Given the description of an element on the screen output the (x, y) to click on. 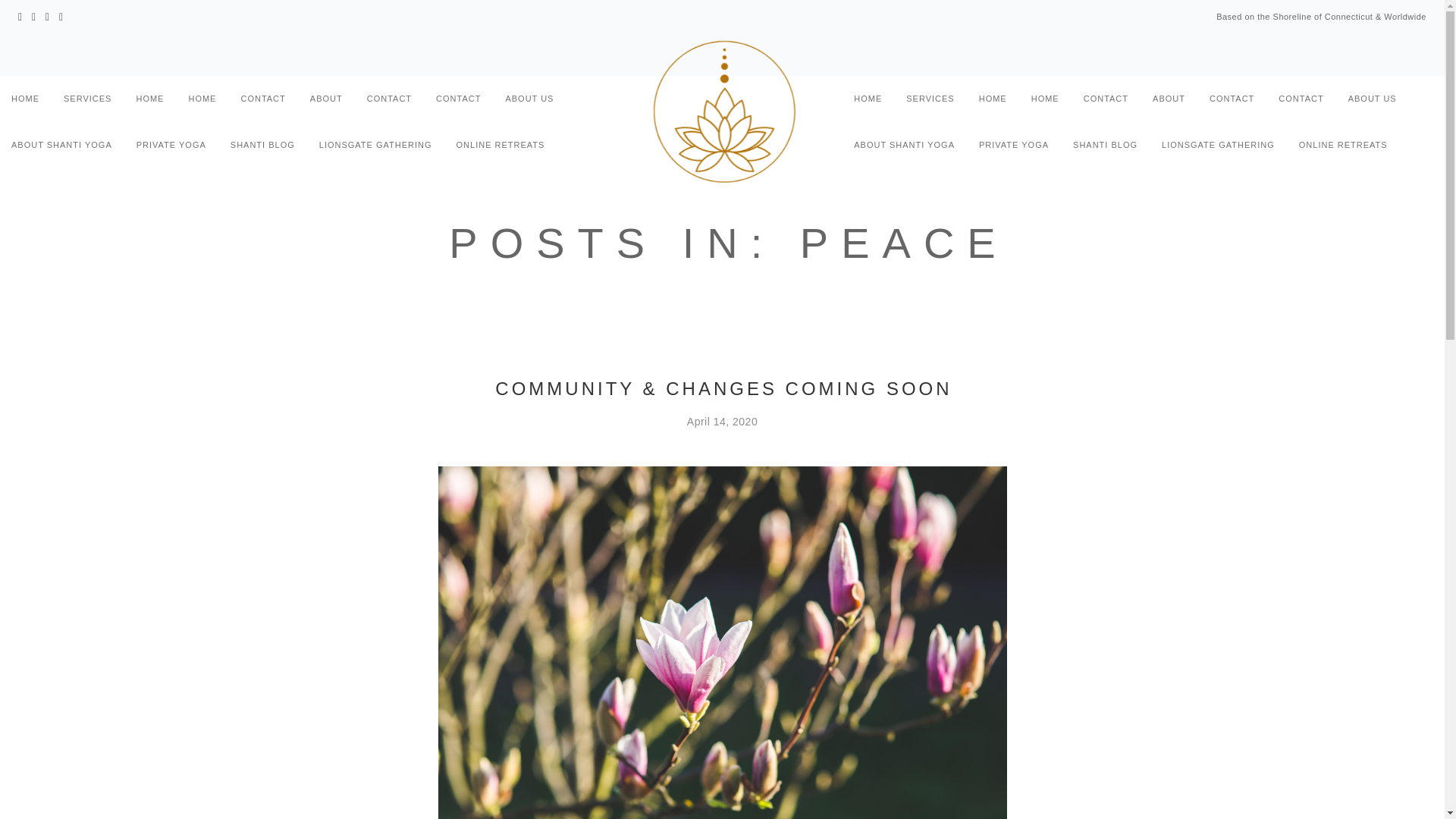
LIONSGATE GATHERING (375, 147)
SHANTI BLOG (262, 147)
ONLINE RETREATS (500, 147)
CONTACT (1105, 101)
CONTACT (389, 101)
SERVICES (929, 101)
SERVICES (88, 101)
ABOUT US (529, 101)
PRIVATE YOGA (1013, 147)
ABOUT SHANTI YOGA (904, 147)
CONTACT (1300, 101)
CONTACT (262, 101)
CONTACT (457, 101)
PRIVATE YOGA (171, 147)
ABOUT SHANTI YOGA (61, 147)
